Given the description of an element on the screen output the (x, y) to click on. 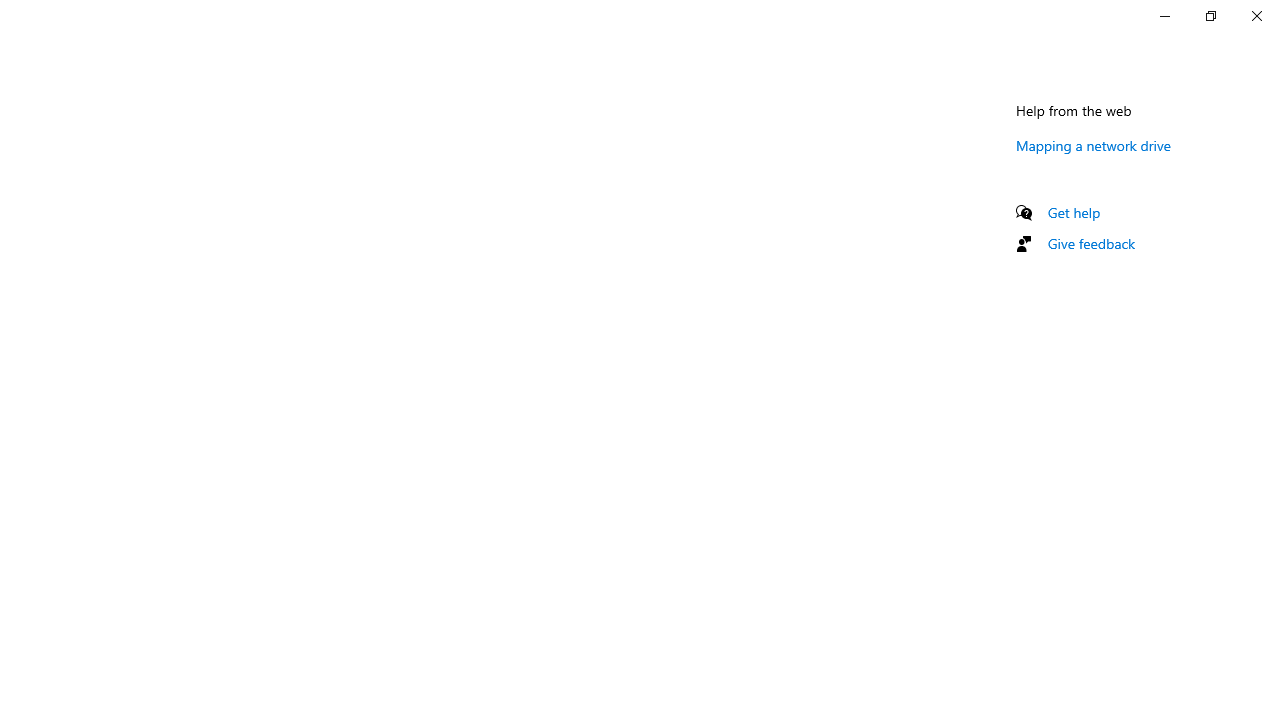
Give feedback (1091, 243)
Minimize Settings (1164, 15)
Close Settings (1256, 15)
Get help (1074, 212)
Restore Settings (1210, 15)
Mapping a network drive (1094, 145)
